Given the description of an element on the screen output the (x, y) to click on. 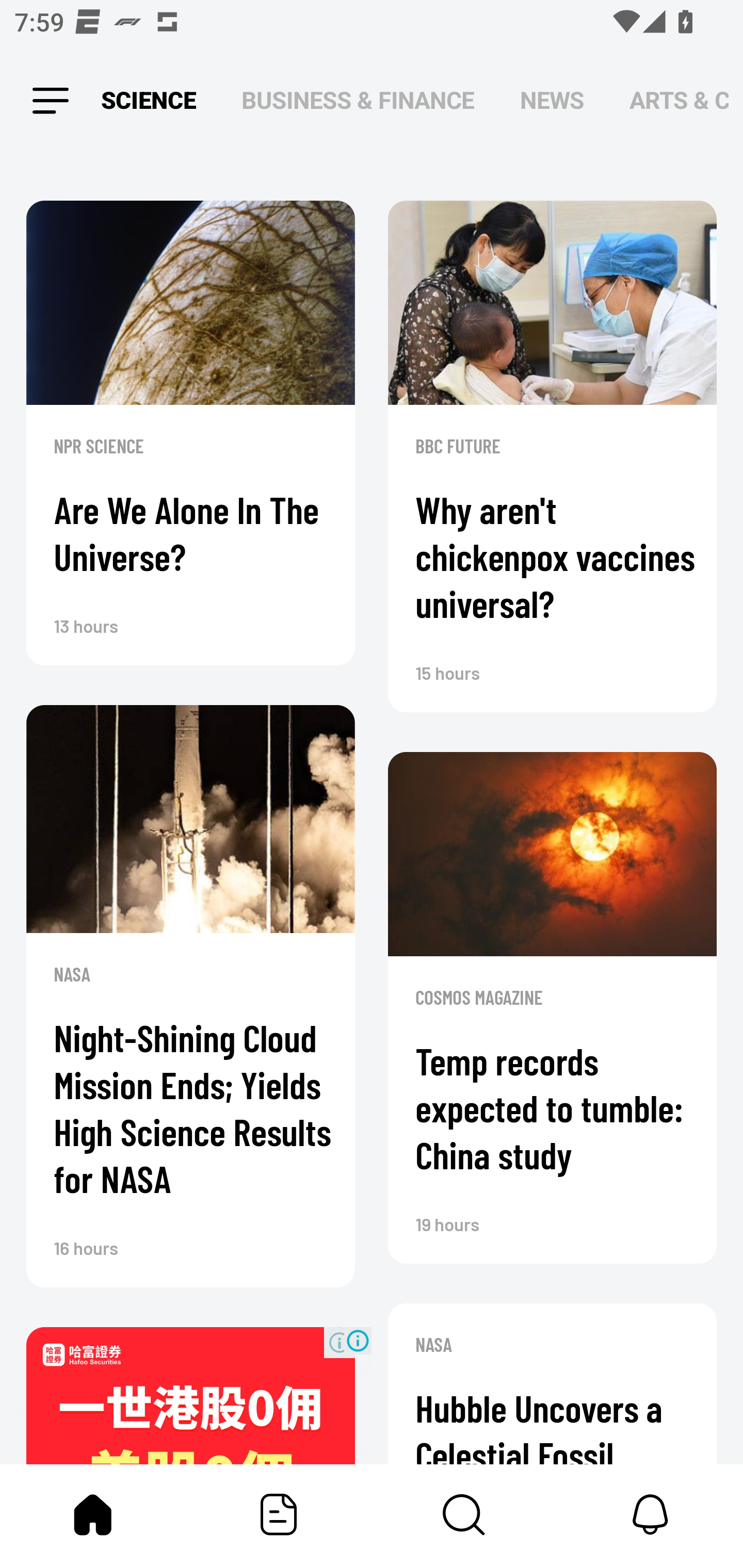
Leading Icon (50, 101)
BUSINESS & FINANCE (357, 100)
NEWS (551, 100)
ARTS & CULTURE (678, 100)
Ad Choices Icon (357, 1340)
Featured (278, 1514)
Content Store (464, 1514)
Notifications (650, 1514)
